Given the description of an element on the screen output the (x, y) to click on. 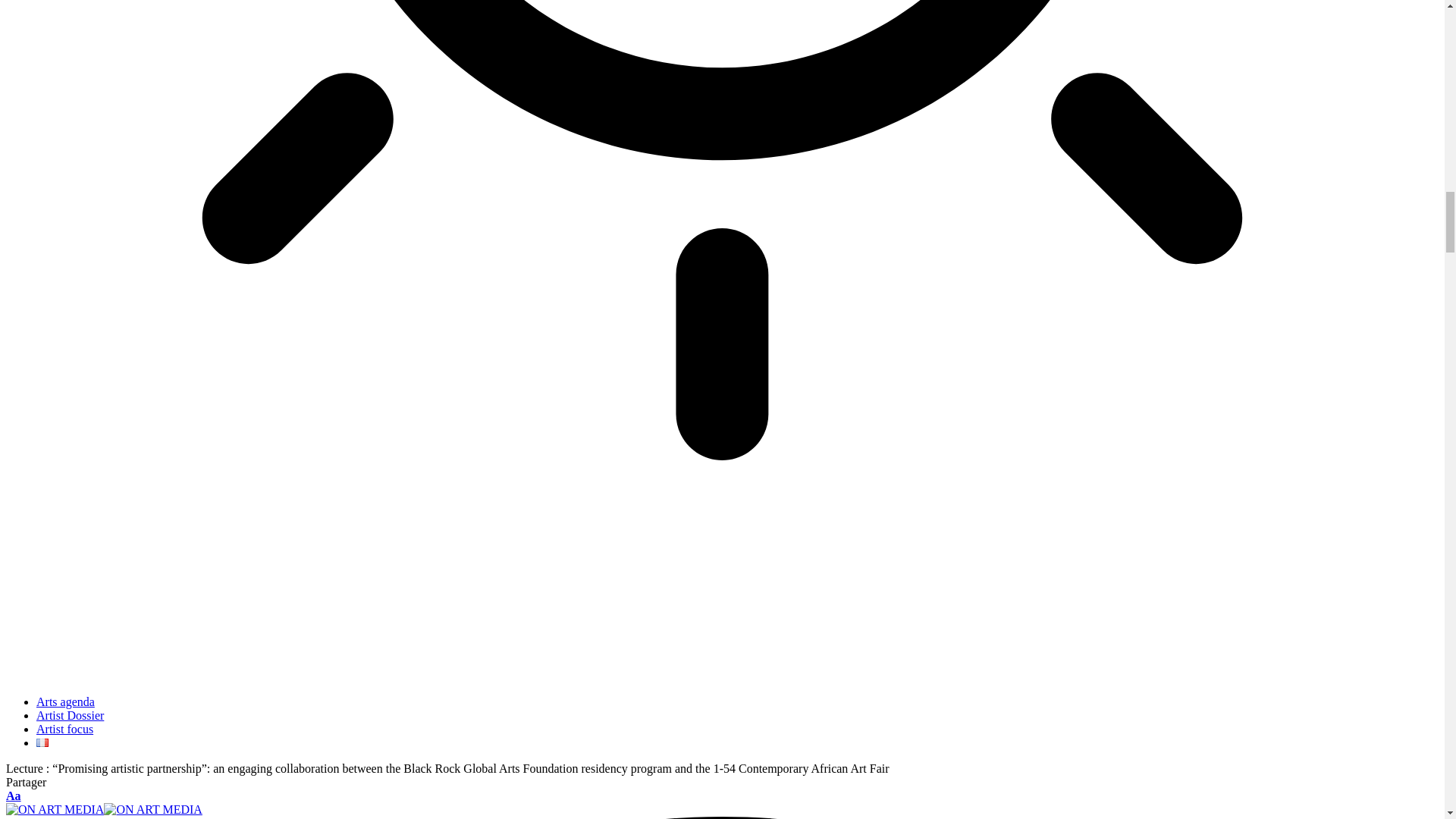
Aa (13, 795)
ON ART MEDIA (103, 809)
Arts agenda (65, 701)
Artist focus (64, 728)
Artist Dossier (69, 715)
